Given the description of an element on the screen output the (x, y) to click on. 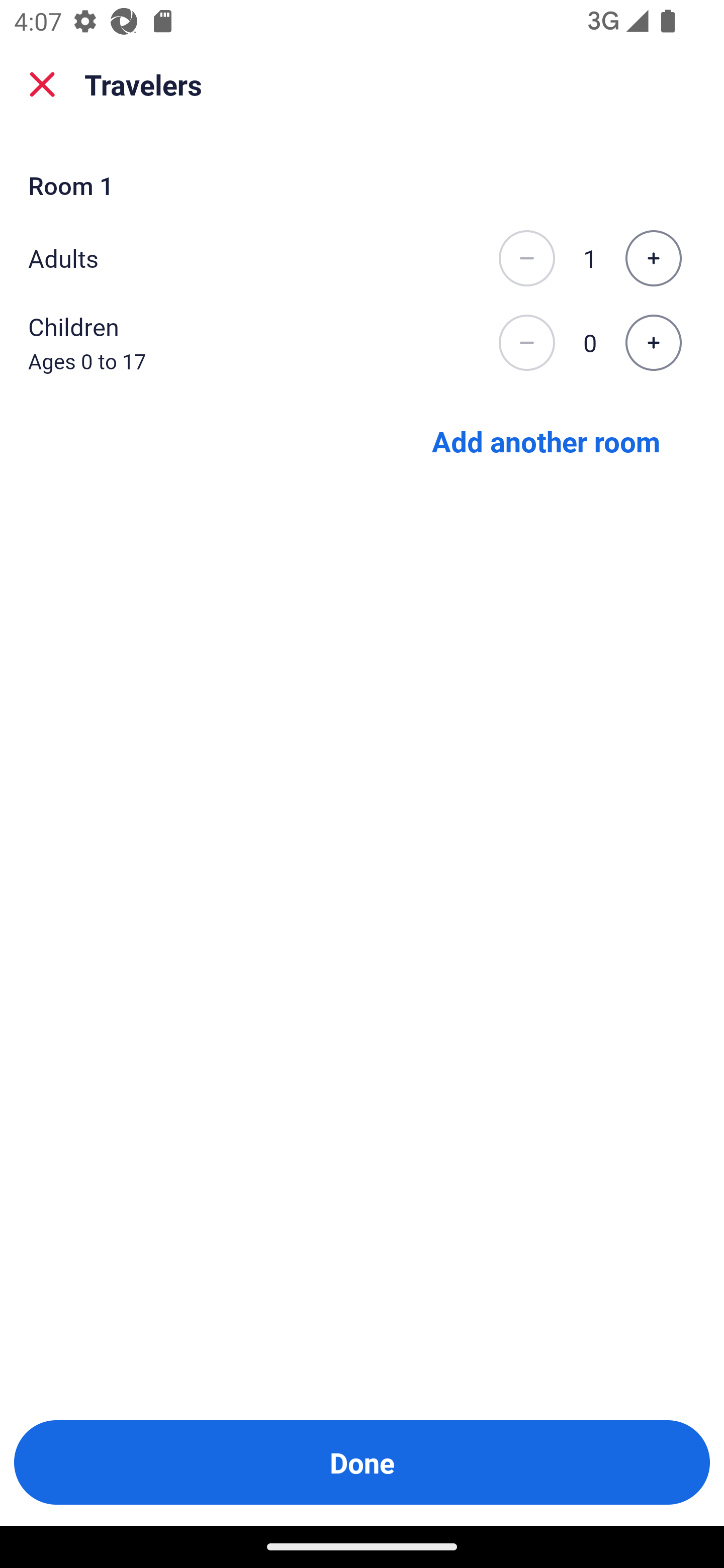
close (42, 84)
Decrease the number of adults (526, 258)
Increase the number of adults (653, 258)
Decrease the number of children (526, 343)
Increase the number of children (653, 343)
Add another room (545, 440)
Done (361, 1462)
